Given the description of an element on the screen output the (x, y) to click on. 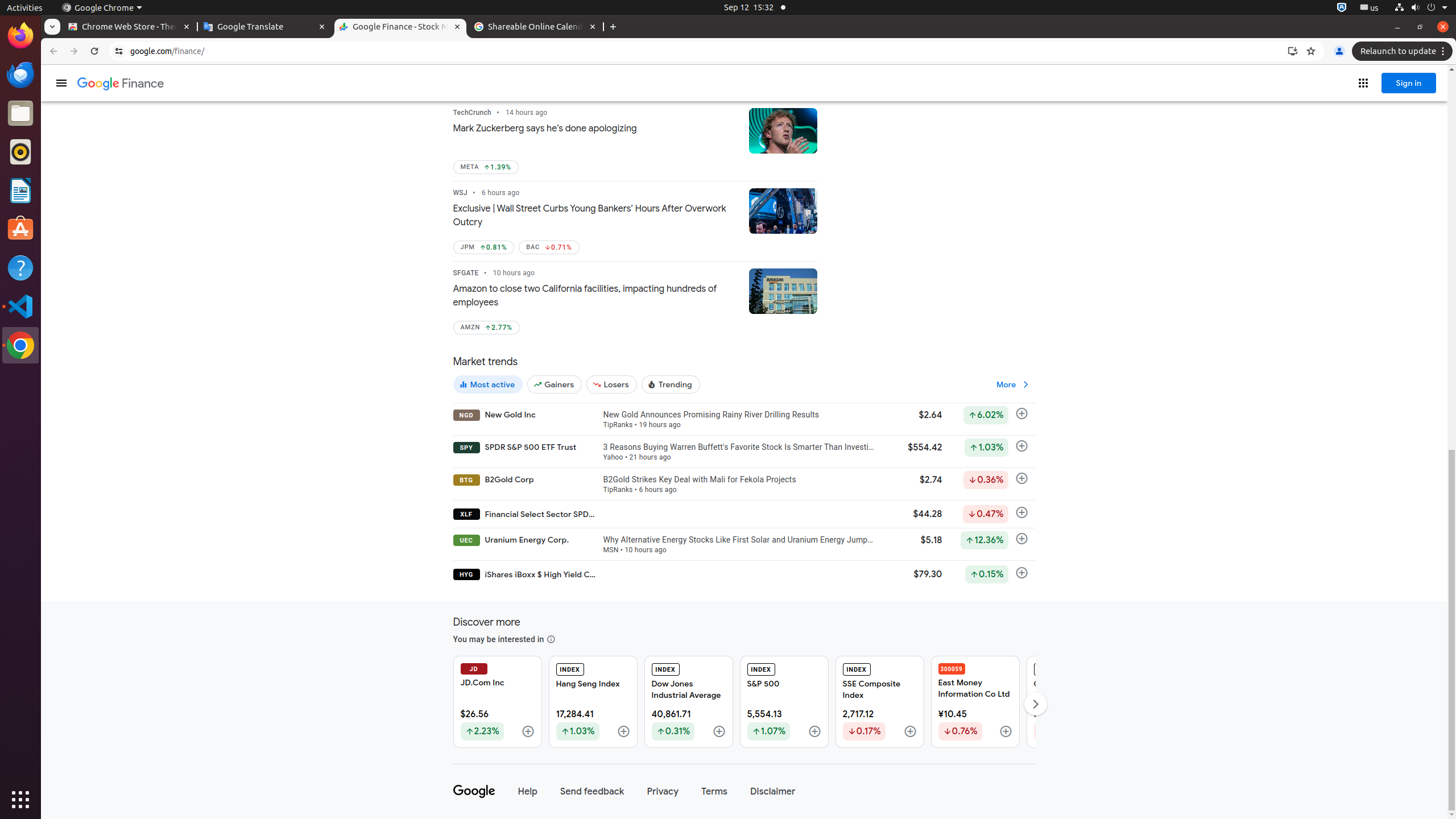
Follow Element type: push-button (1005, 731)
View site information Element type: push-button (118, 51)
Help Element type: link (527, 791)
Google Finance - Stock Market Prices, Real-time Quotes & Business News - Memory usage - 51.5 MB Element type: page-tab (400, 26)
JD JD.Com Inc $26.56 Up by 2.23% Element type: link (497, 701)
